Given the description of an element on the screen output the (x, y) to click on. 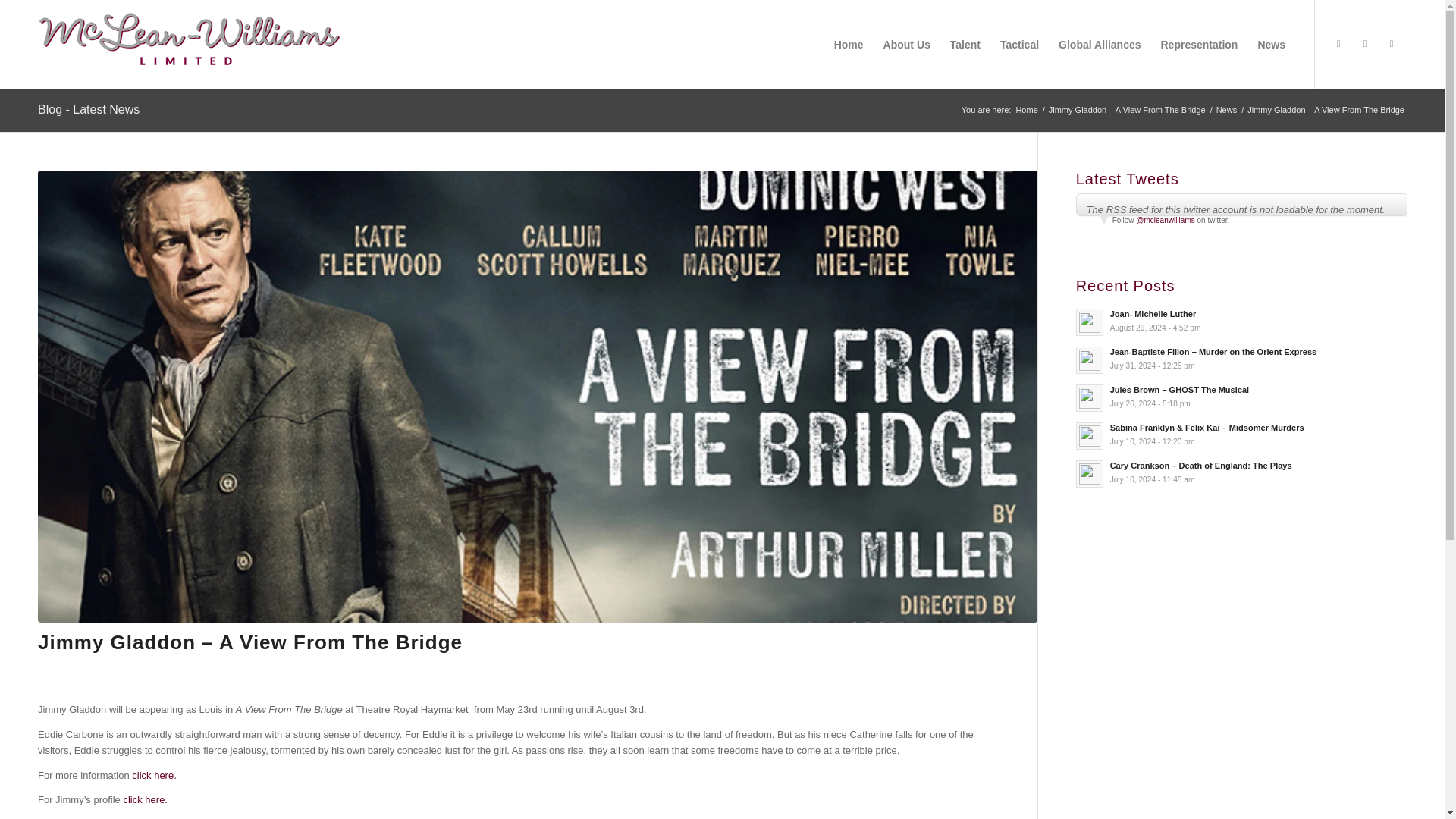
click here. (144, 799)
Home (1026, 110)
Permanent Link: Blog - Latest News (88, 109)
Twitter (1337, 43)
Representation (1199, 44)
News (1240, 320)
click here. (1227, 110)
Blog - Latest News (154, 775)
Global Alliances (88, 109)
